Given the description of an element on the screen output the (x, y) to click on. 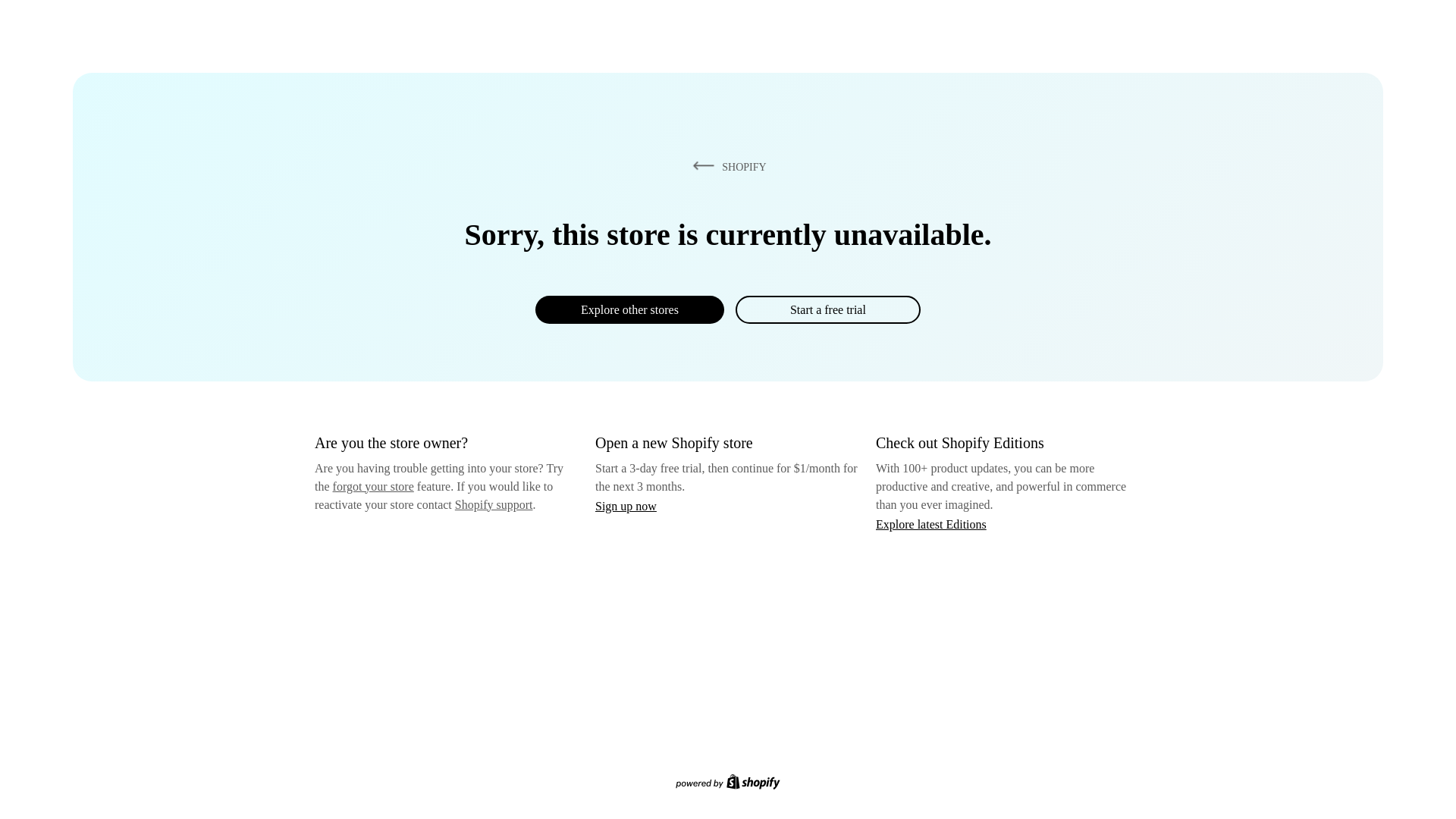
Shopify support (493, 504)
Start a free trial (827, 309)
Sign up now (625, 505)
forgot your store (373, 486)
Explore latest Editions (931, 523)
Explore other stores (629, 309)
SHOPIFY (726, 166)
